Given the description of an element on the screen output the (x, y) to click on. 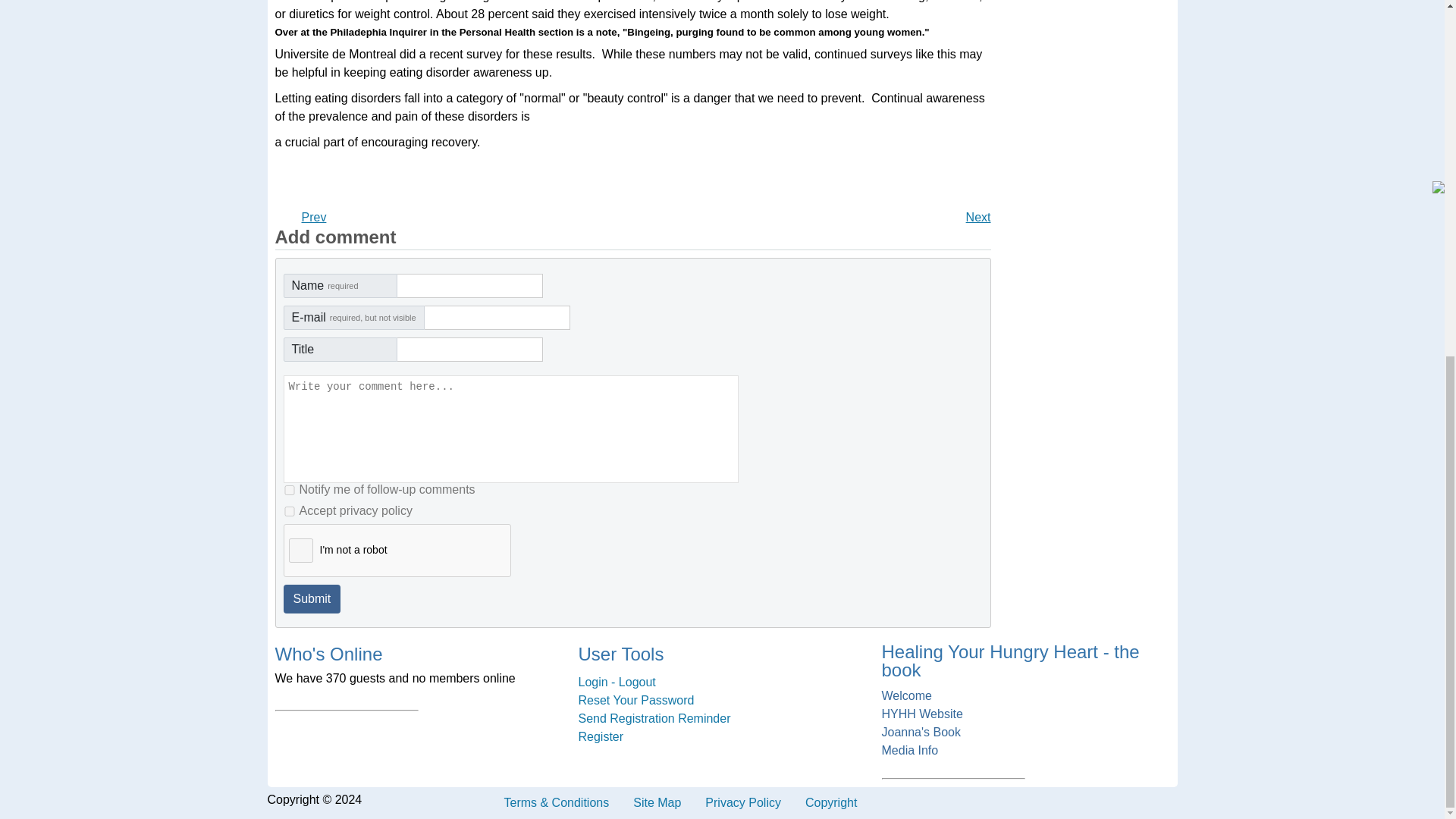
Welcome (1024, 696)
Brittany Murphy: some anorexia thoughts (978, 216)
Media Info (1024, 751)
1 (289, 510)
Register (722, 737)
Send Registration Reminder (722, 719)
Joanna's Book (1024, 732)
Privacy Policy (743, 802)
Site Map (657, 802)
Reset Your Password (722, 700)
